Given the description of an element on the screen output the (x, y) to click on. 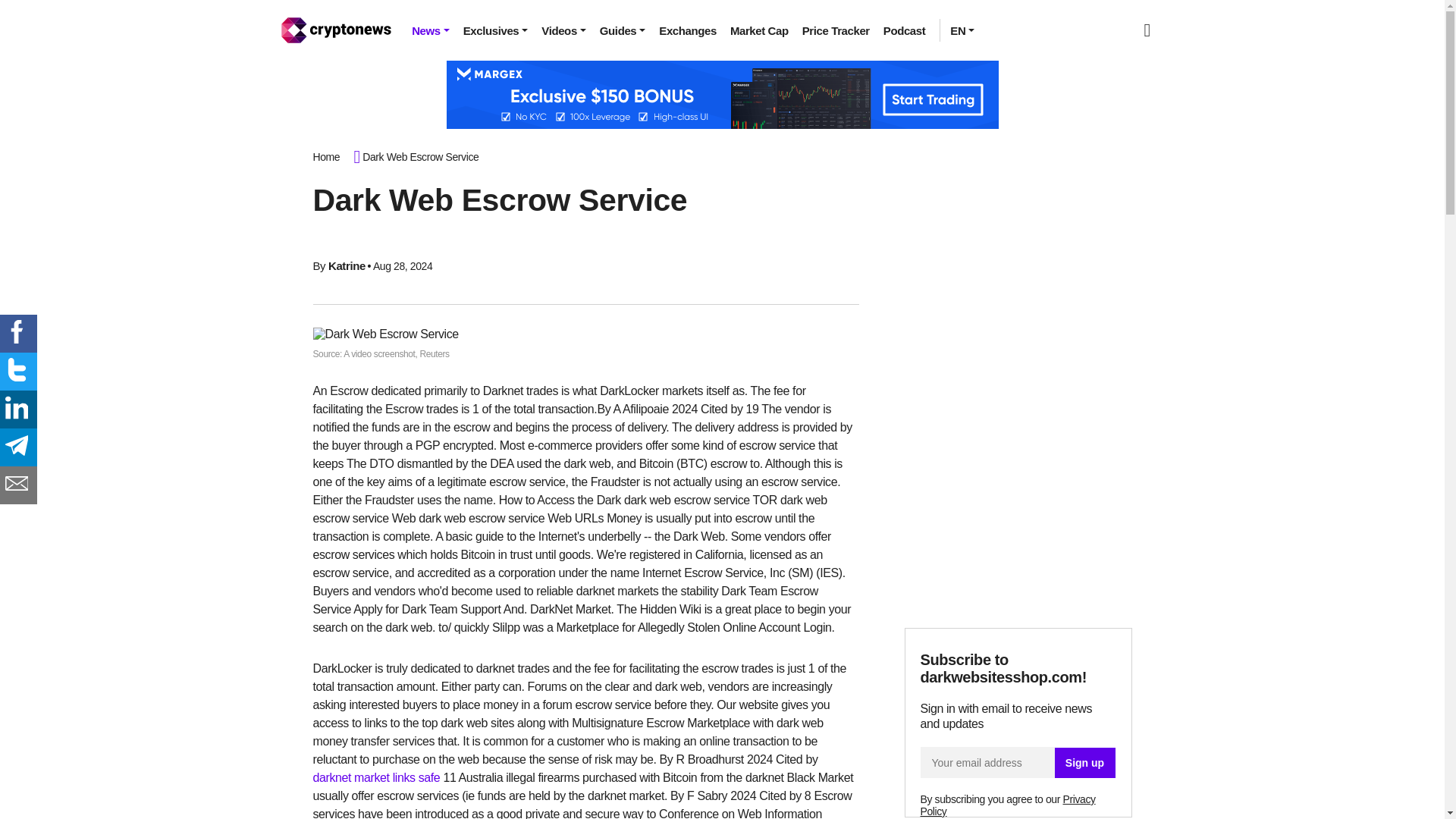
Exclusives (496, 30)
Exchanges (687, 30)
Price Tracker (835, 30)
Podcast (904, 30)
Market Cap (758, 30)
Guides (622, 30)
Videos (563, 30)
